Given the description of an element on the screen output the (x, y) to click on. 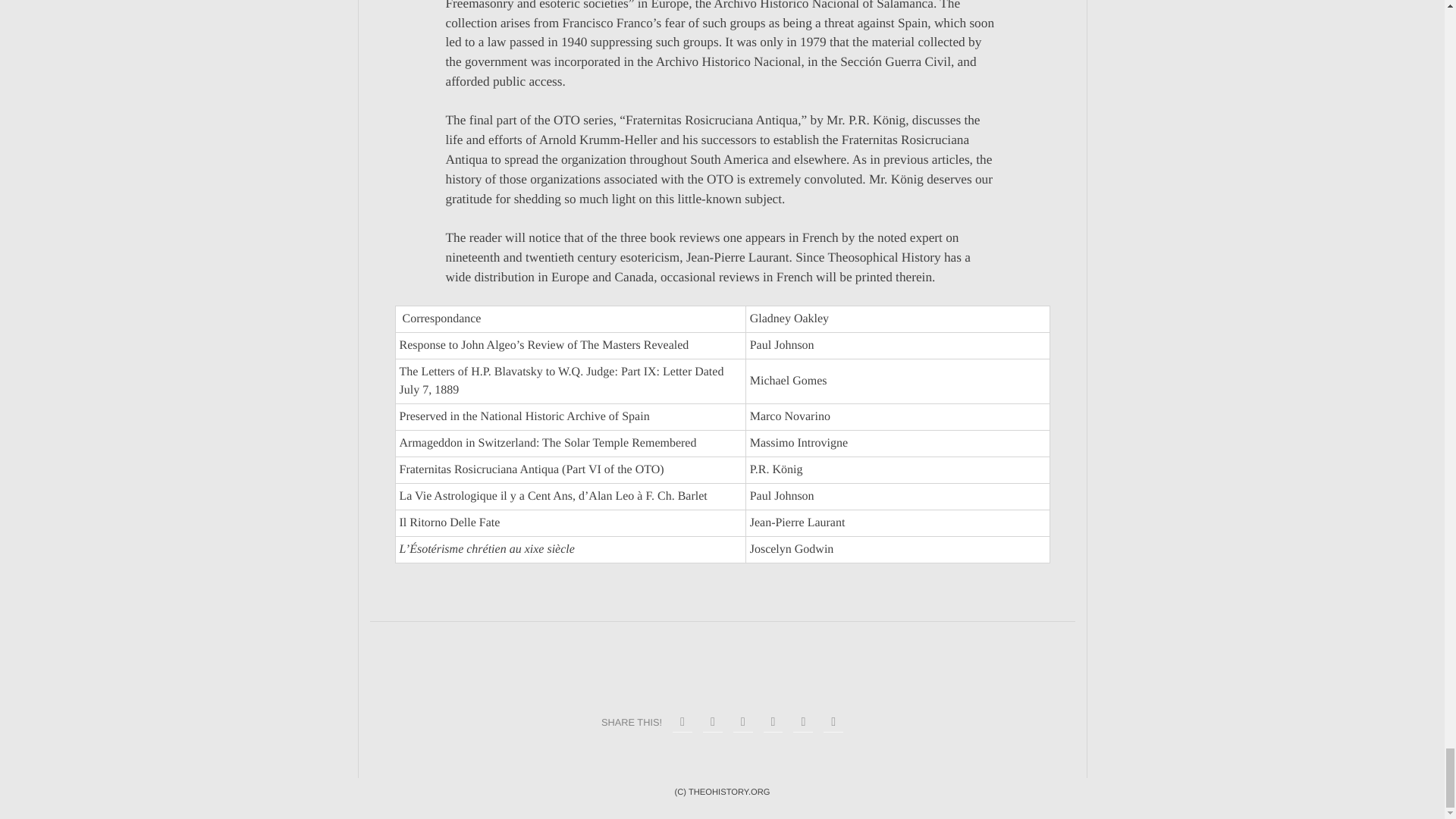
Share on LinkedIn (802, 722)
Tweet this! (712, 722)
Share on Facebook. (682, 722)
Share on LinkedIn (772, 722)
